Given the description of an element on the screen output the (x, y) to click on. 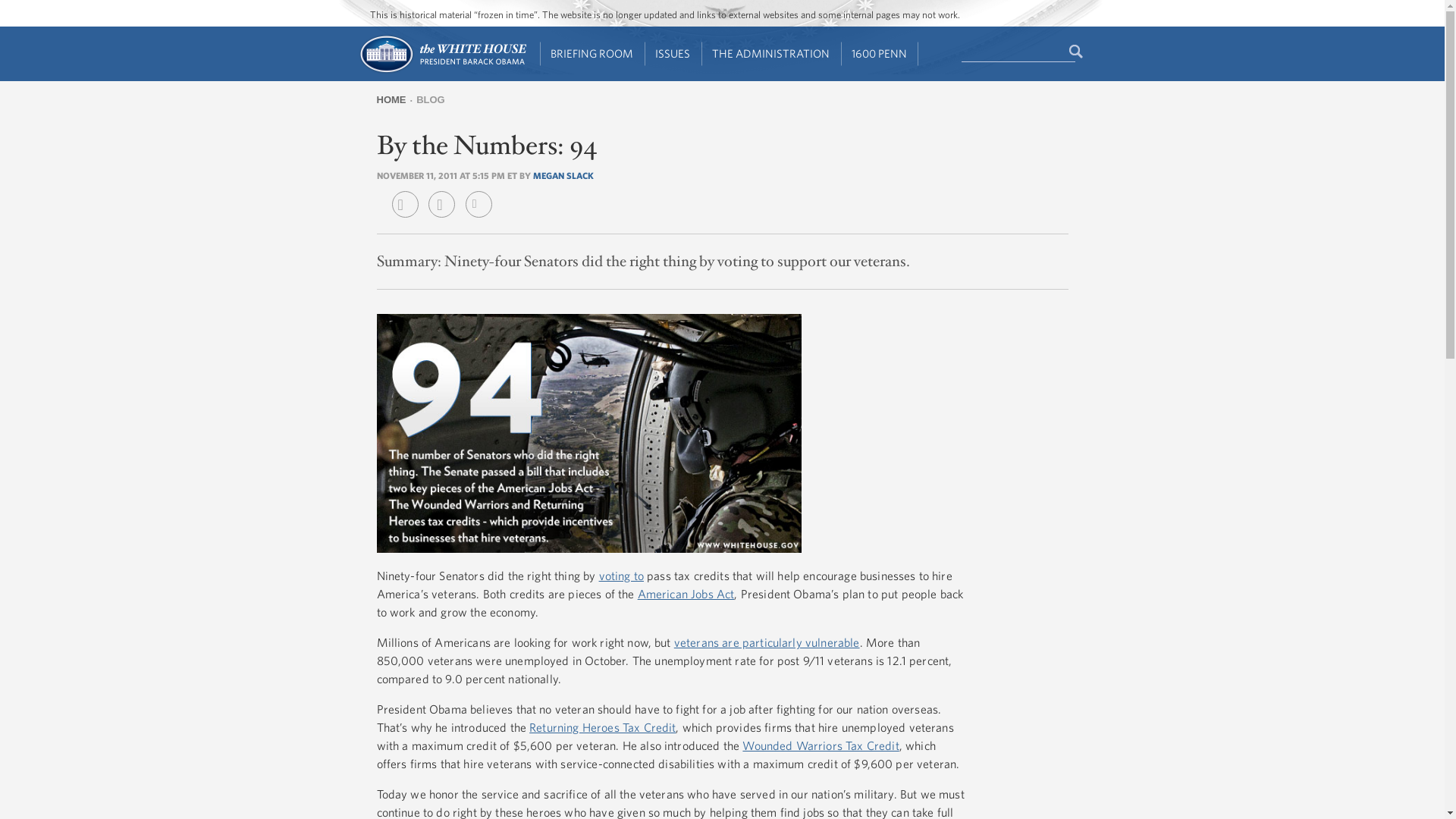
94 (587, 432)
Search (1076, 51)
Home (441, 70)
Enter the terms you wish to search for. (1017, 52)
ISSUES (673, 53)
BRIEFING ROOM (592, 53)
